Given the description of an element on the screen output the (x, y) to click on. 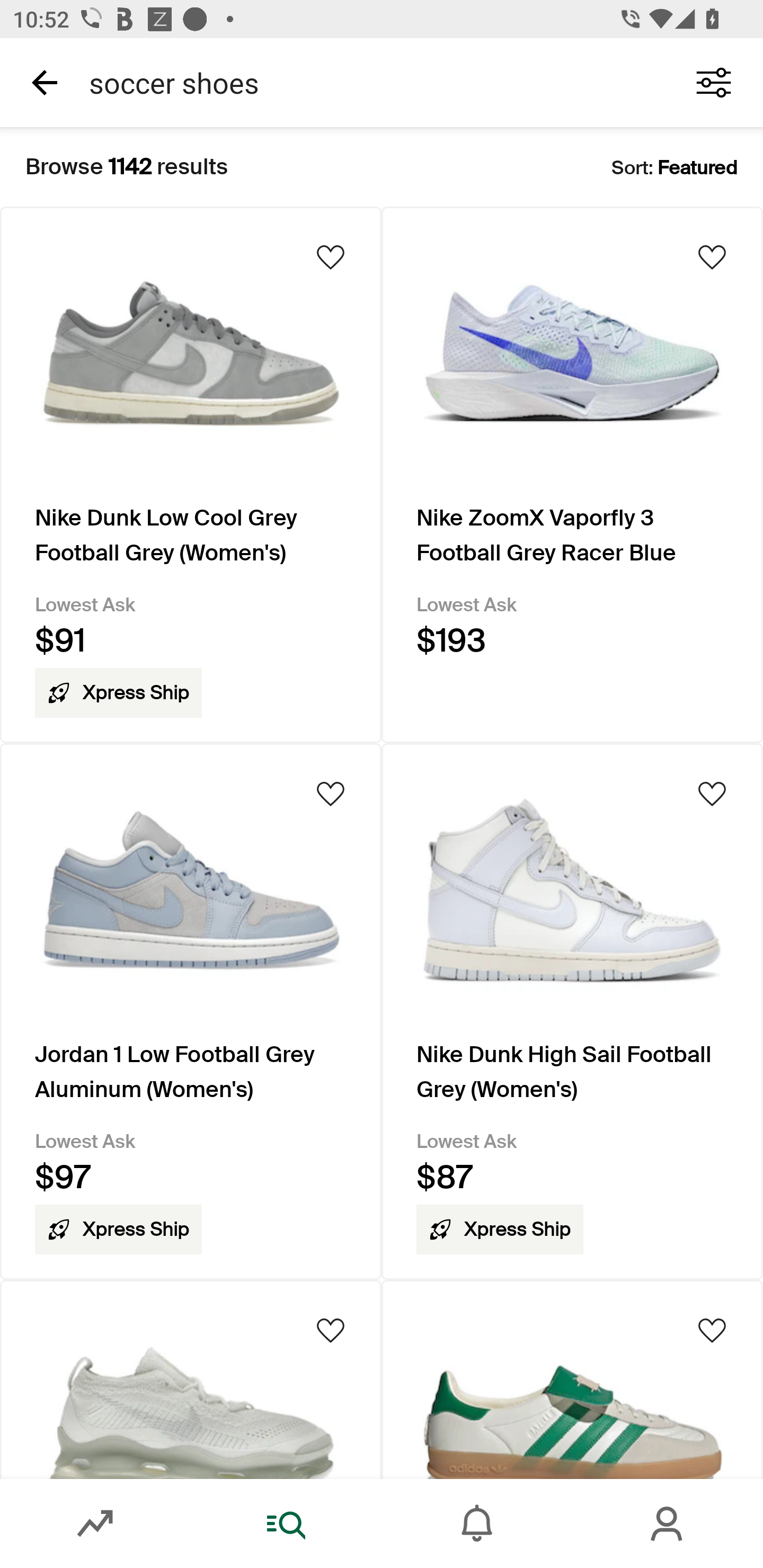
soccer shoes (370, 82)
Product Image (190, 1378)
Product Image (572, 1378)
Market (95, 1523)
Inbox (476, 1523)
Account (667, 1523)
